Given the description of an element on the screen output the (x, y) to click on. 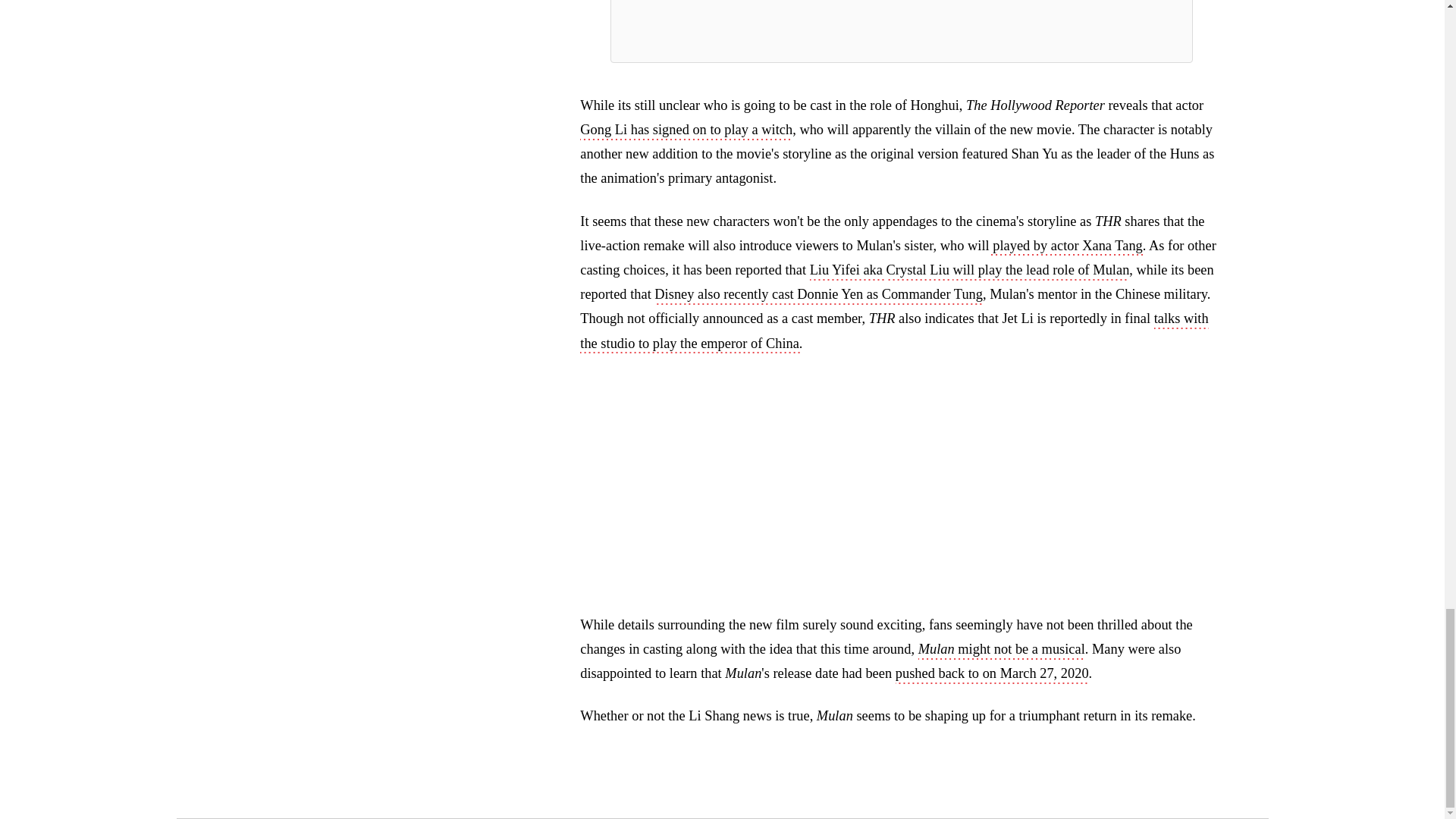
Disney also recently cast Donnie Yen as Commander Tung (817, 295)
Gong Li has signed on to play a witch (685, 131)
played by actor Xana Tang (1066, 247)
Mulan might not be a musical (1001, 650)
will play the lead role of Mulan (1040, 271)
Crystal Liu (917, 271)
Liu Yifei aka (847, 271)
talks with the studio to play the emperor of China. (893, 331)
pushed back to on March 27, 2020 (992, 674)
